Given the description of an element on the screen output the (x, y) to click on. 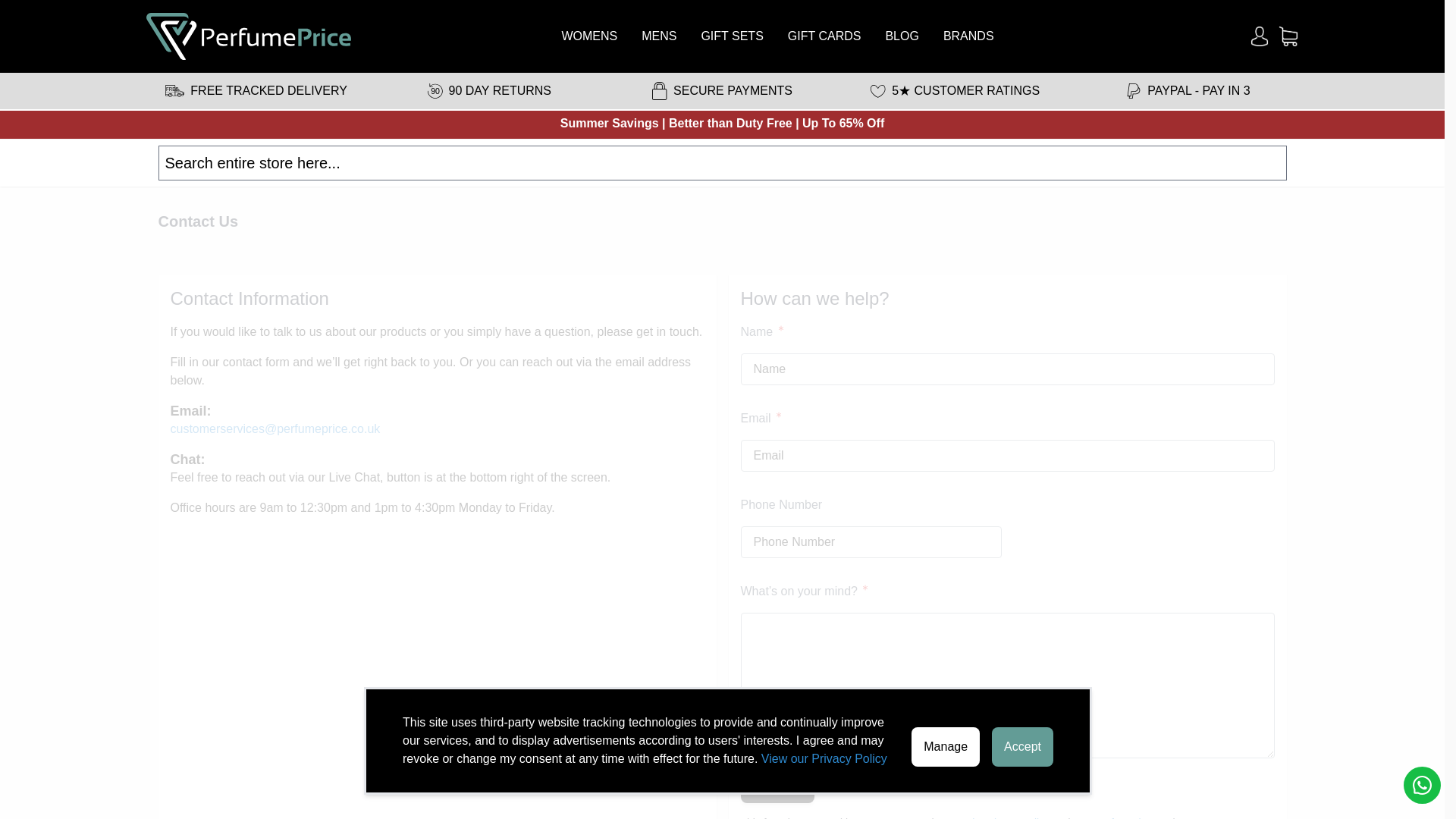
Google Privacy Policy (997, 817)
Cart (1288, 35)
View our Privacy Policy (823, 758)
Brands (968, 36)
Manage (945, 746)
Submit (776, 788)
WOMENS (588, 36)
BLOG (901, 36)
MENS (659, 36)
Gift Cards (824, 36)
